Given the description of an element on the screen output the (x, y) to click on. 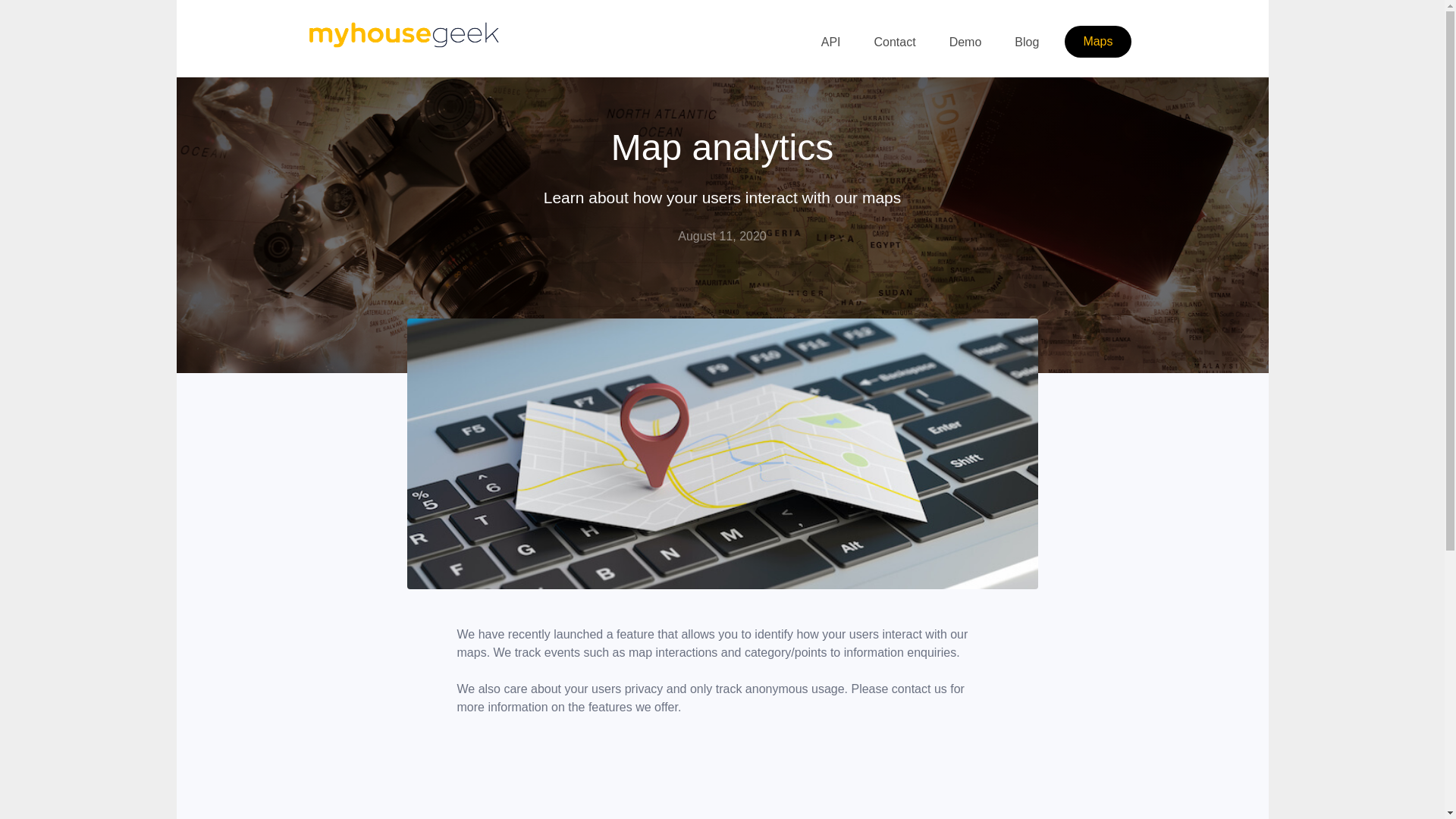
Maps Element type: text (1097, 41)
Blog Element type: text (1026, 42)
API Element type: text (830, 42)
Contact Element type: text (894, 42)
Demo Element type: text (965, 42)
